Given the description of an element on the screen output the (x, y) to click on. 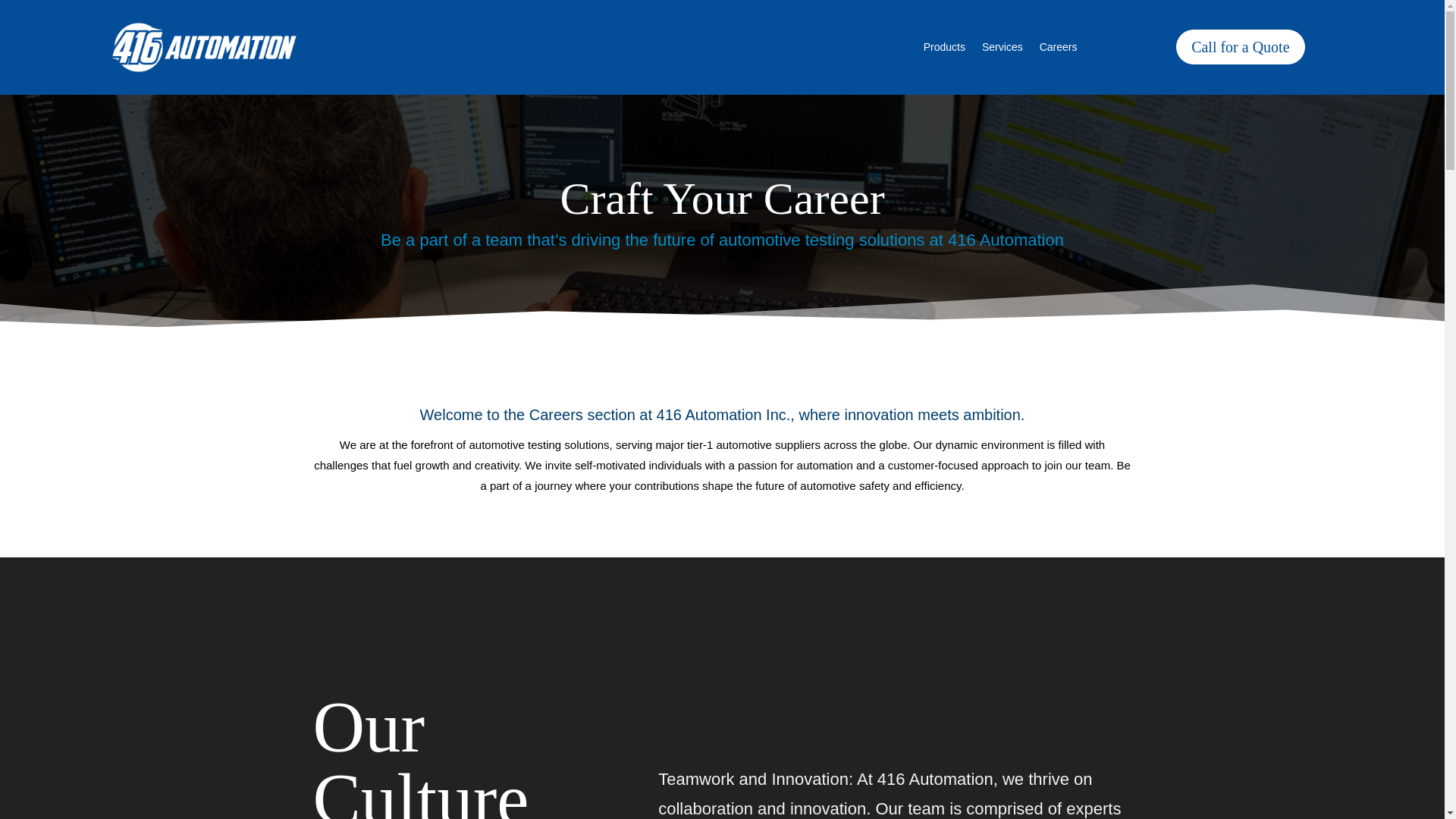
Products (944, 49)
Careers (1058, 49)
Call for a Quote (1240, 46)
416 Automation Long Logo - White (203, 47)
Services (1002, 49)
